Given the description of an element on the screen output the (x, y) to click on. 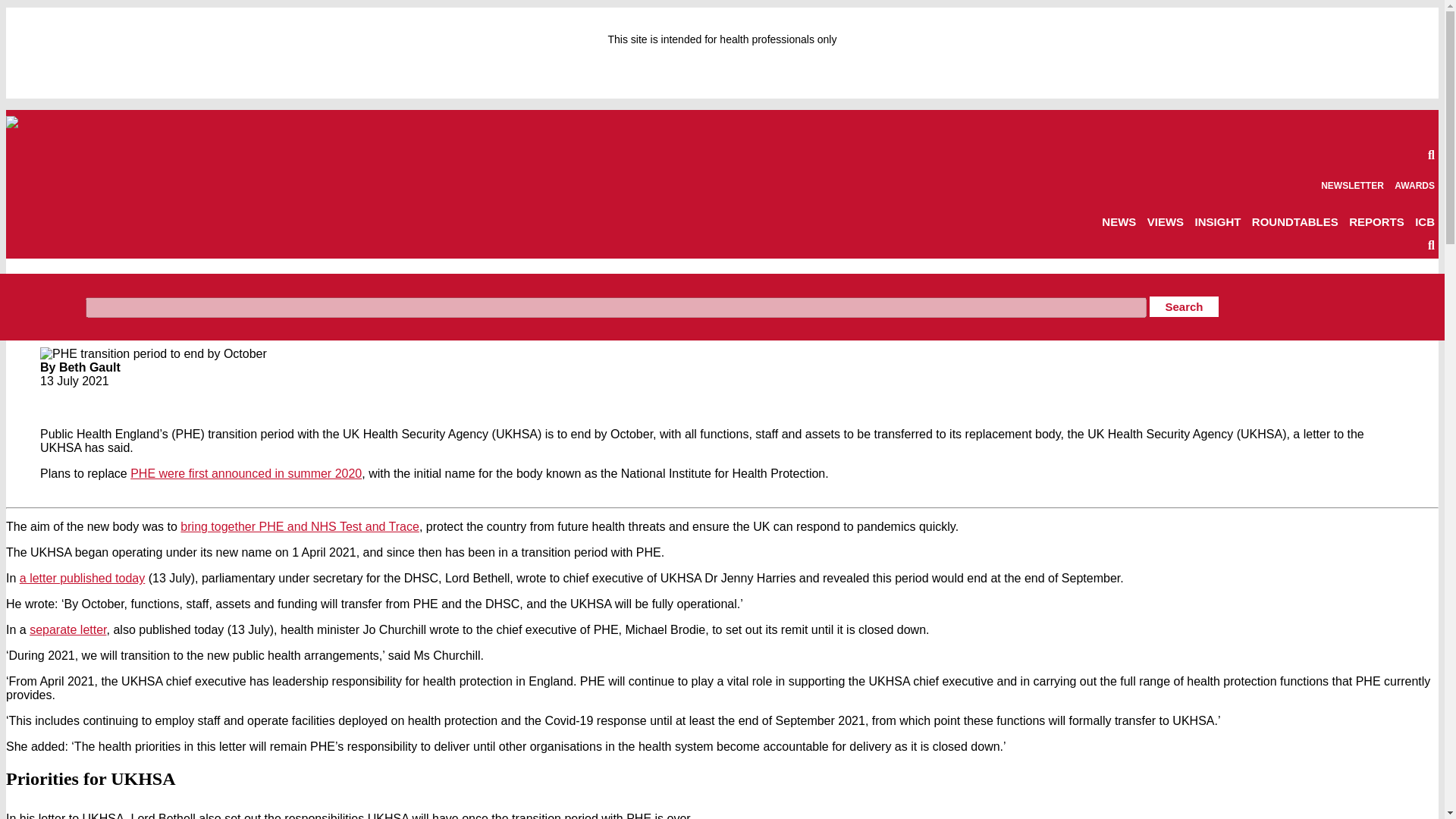
PHE were first announced in summer 2020 (246, 472)
INSIGHT (1218, 221)
NEWS (1118, 221)
REPORTS (1377, 221)
Home (53, 284)
a letter published today (82, 577)
VIEWS (1165, 221)
PHE transition period to end by October (214, 284)
separate letter (67, 629)
NEWSLETTER (1352, 185)
Home (53, 284)
bring together PHE and NHS Test and Trace (299, 526)
Search (1183, 306)
Search (1183, 306)
News (93, 284)
